Given the description of an element on the screen output the (x, y) to click on. 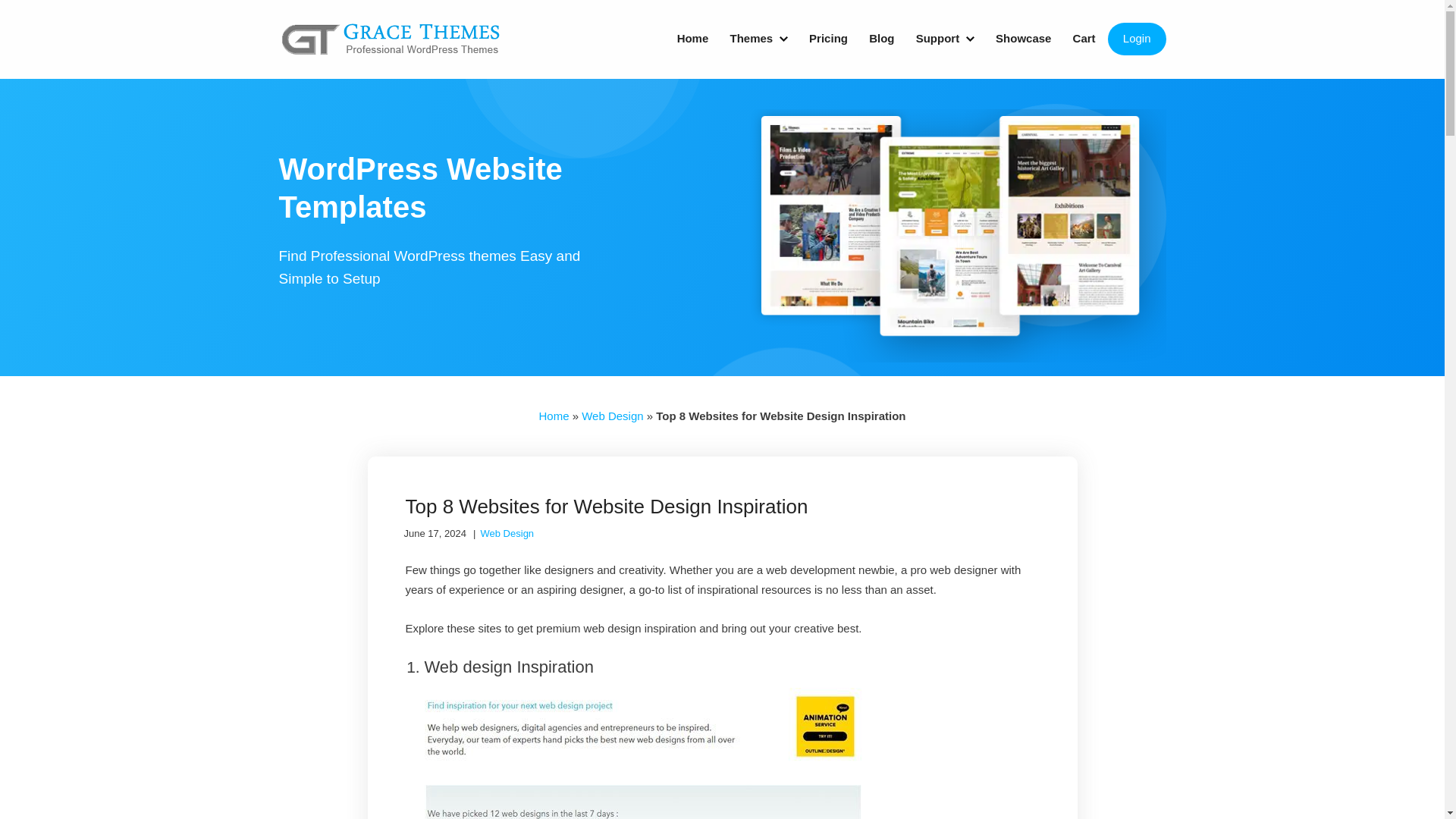
Login (1137, 38)
Login (1137, 38)
Web Design (611, 415)
Home (553, 415)
Grace Themes (391, 44)
Showcase (1023, 38)
Web Design (507, 532)
Support (945, 38)
Themes (758, 38)
